Given the description of an element on the screen output the (x, y) to click on. 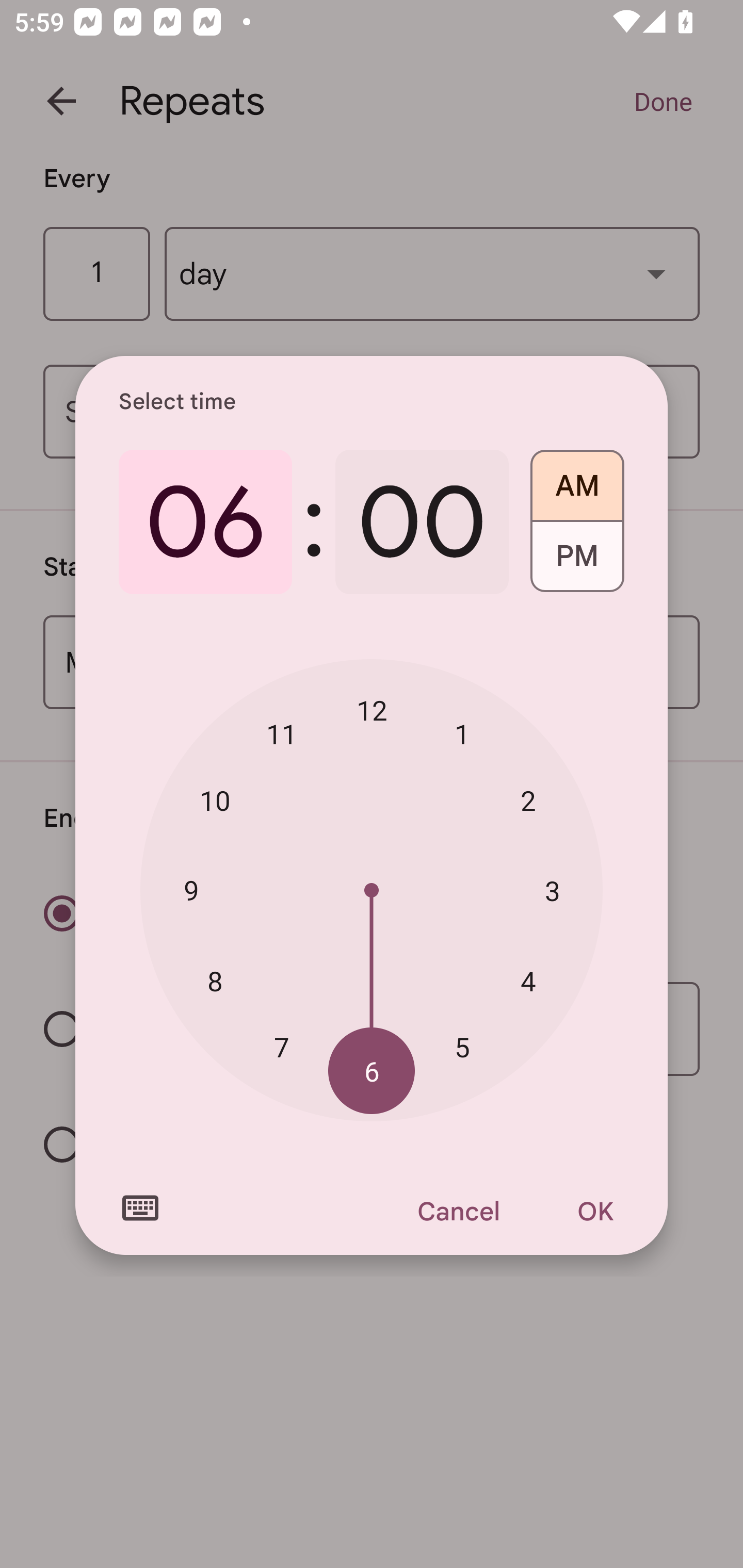
AM (577, 478)
06 6 o'clock (204, 522)
00 0 minutes (421, 522)
PM (577, 563)
12 12 o'clock (371, 710)
11 11 o'clock (281, 733)
1 1 o'clock (462, 733)
10 10 o'clock (214, 800)
2 2 o'clock (528, 800)
9 9 o'clock (190, 889)
3 3 o'clock (551, 890)
8 8 o'clock (214, 980)
4 4 o'clock (528, 980)
7 7 o'clock (281, 1046)
5 5 o'clock (462, 1046)
6 6 o'clock (371, 1071)
Switch to text input mode for the time input. (140, 1208)
Cancel (458, 1211)
OK (595, 1211)
